Given the description of an element on the screen output the (x, y) to click on. 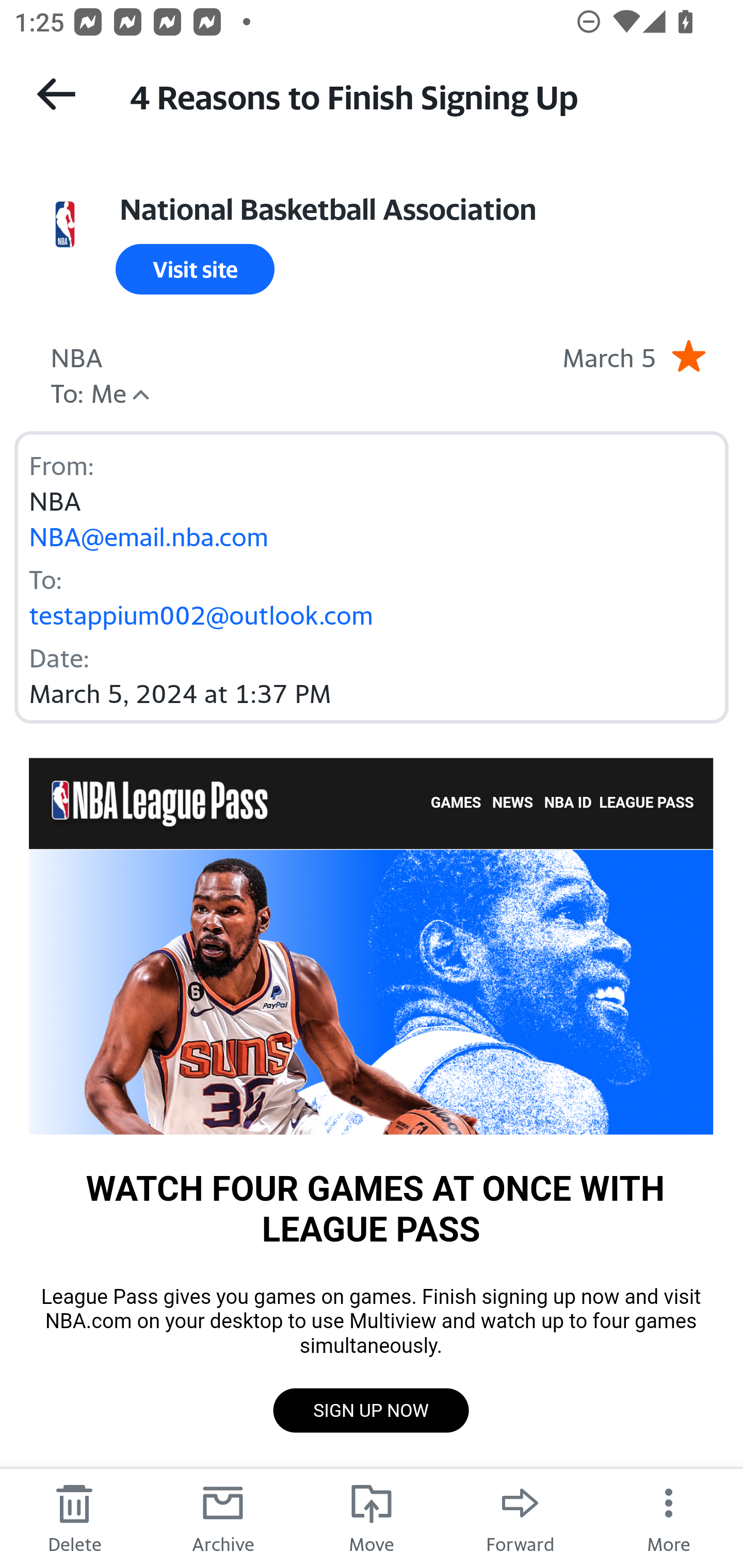
Back (55, 93)
4 Reasons to Finish Signing Up (418, 94)
View all messages from sender (64, 225)
Visit site Visit Site Link (194, 269)
NBA Sender NBA (76, 355)
Remove star. (688, 355)
To: Me Hide details (88, 391)
GAMES (455, 803)
NEWS (512, 803)
NBA ID (567, 803)
LEAGUE PASS (645, 803)
WATCH FOUR GAMES AT ONCE WITH LEAGUE PASS (370, 990)
SIGN UP NOW (370, 1410)
Delete (74, 1517)
Archive (222, 1517)
Move (371, 1517)
Forward (519, 1517)
More (668, 1517)
